Given the description of an element on the screen output the (x, y) to click on. 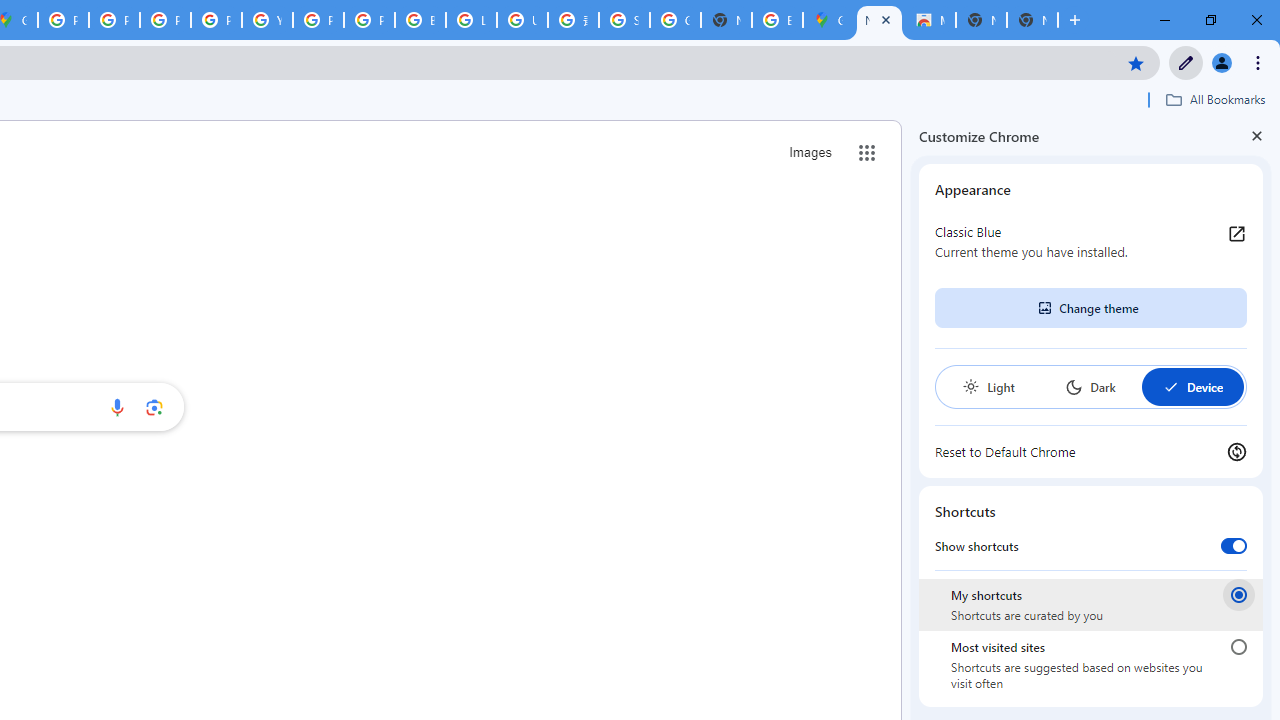
My shortcuts (1238, 594)
Privacy Help Center - Policies Help (113, 20)
Device (1192, 386)
Google Maps (827, 20)
AutomationID: baseSvg (1170, 386)
New Tab (1032, 20)
Most visited sites (1238, 647)
